Given the description of an element on the screen output the (x, y) to click on. 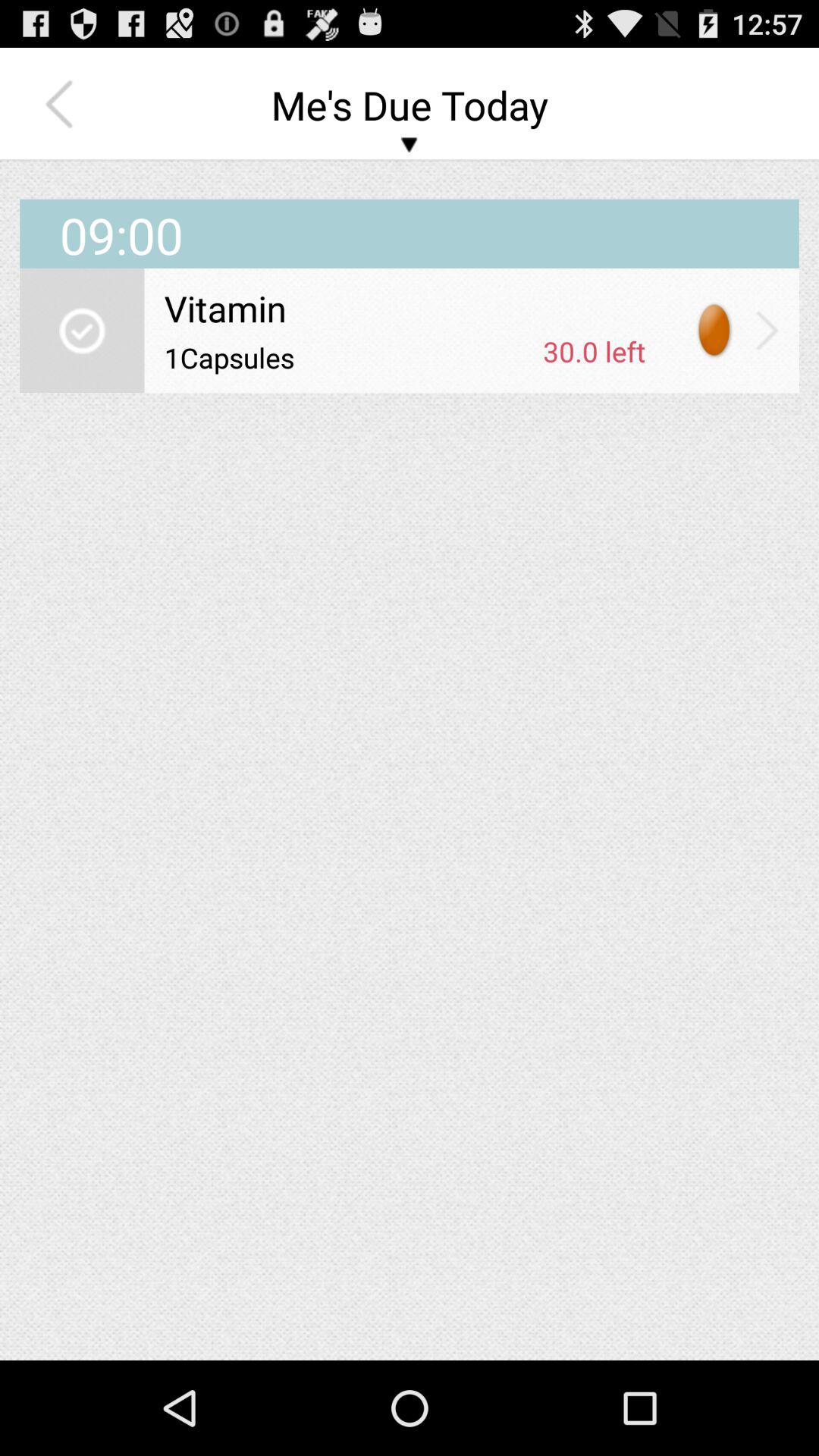
swipe until 1capsules icon (348, 357)
